Given the description of an element on the screen output the (x, y) to click on. 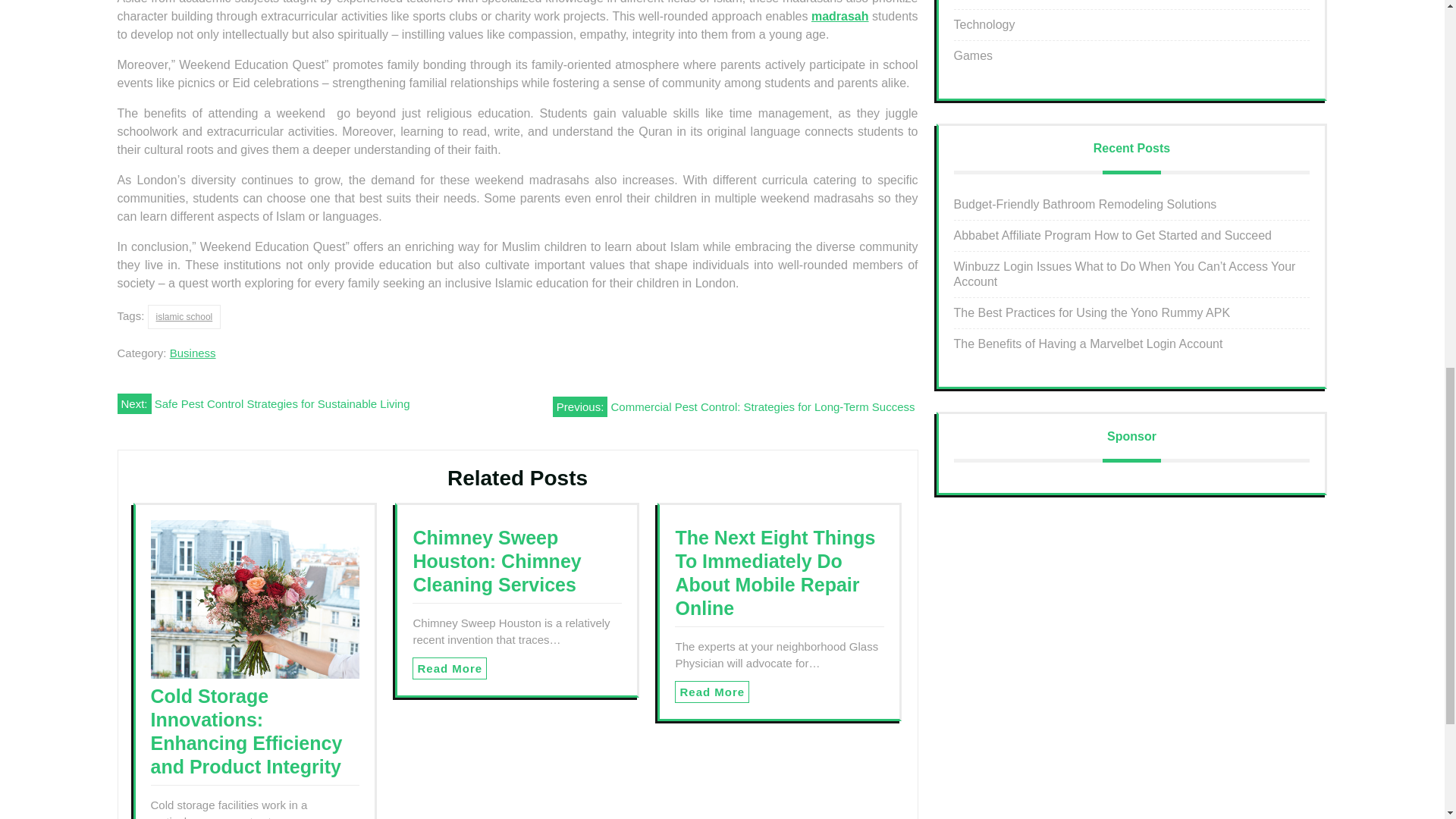
Chimney Sweep Houston: Chimney Cleaning Services (496, 561)
Games (972, 55)
Technology (983, 24)
Read More (712, 691)
Chimney Sweep Houston: Chimney Cleaning Services (496, 561)
The Benefits of Having a Marvelbet Login Account (1088, 343)
Business (192, 352)
Abbabet Affiliate Program How to Get Started and Succeed (1112, 235)
Read More (449, 668)
